Given the description of an element on the screen output the (x, y) to click on. 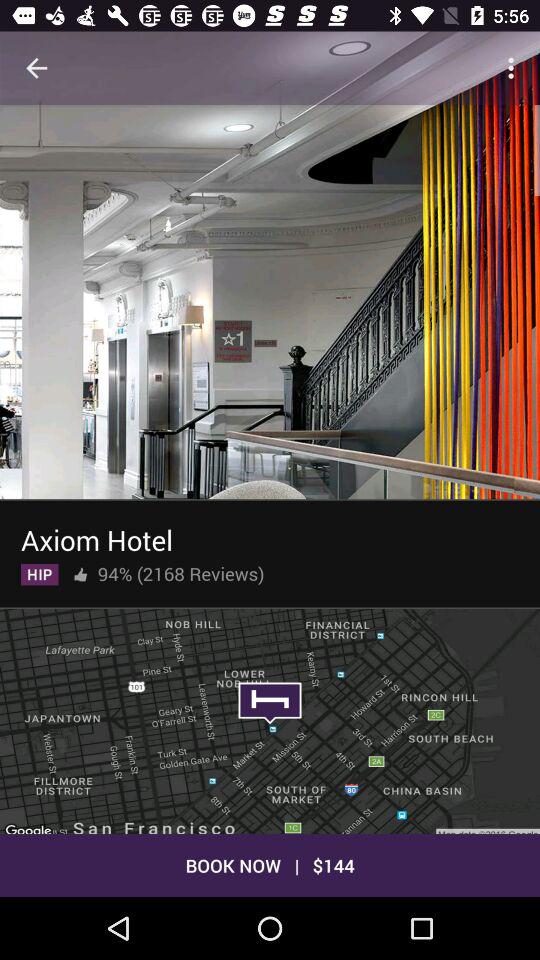
tap the book now   |   $144 item (270, 864)
